Given the description of an element on the screen output the (x, y) to click on. 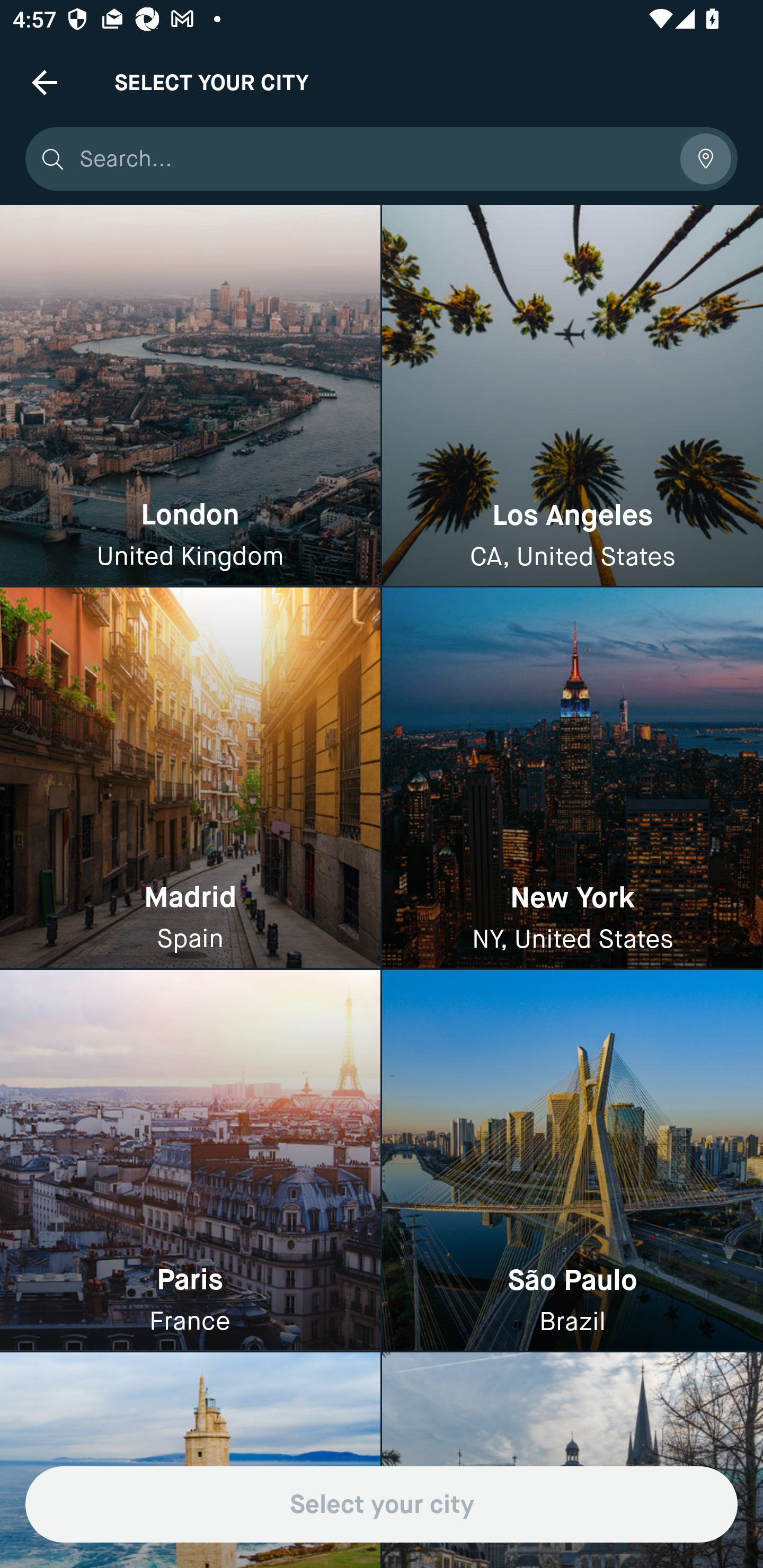
Navigate up (44, 82)
Search... (373, 159)
London United Kingdom (190, 395)
Los Angeles CA, United States (572, 395)
Madrid Spain (190, 778)
New York NY, United States (572, 778)
Paris France (190, 1160)
São Paulo Brazil (572, 1160)
Select your city (381, 1504)
